Given the description of an element on the screen output the (x, y) to click on. 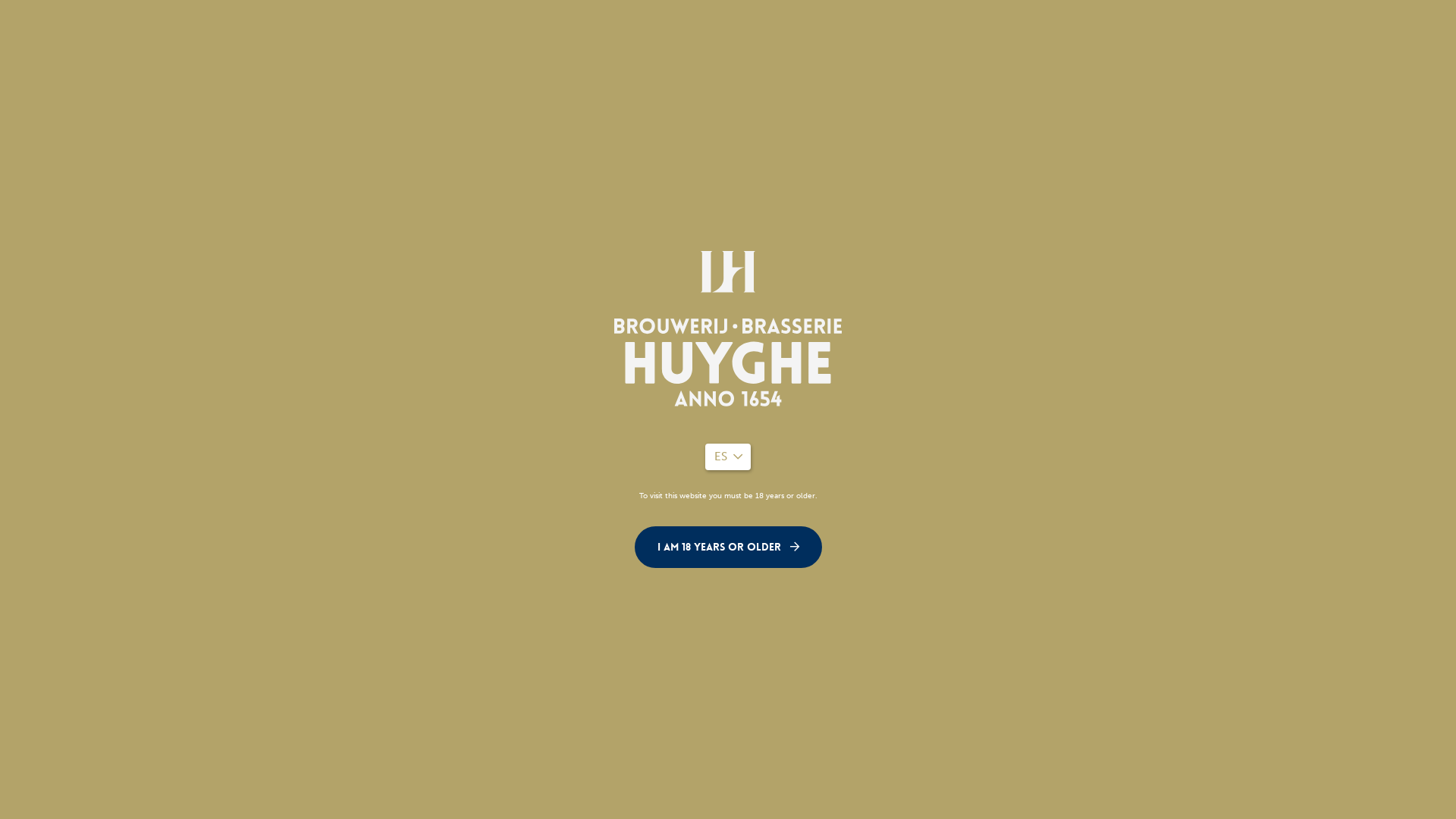
NUESTRAS CERVEZAS Element type: text (852, 69)
WEBSHOP Element type: text (1313, 26)
DOWNLOADS Element type: text (1215, 26)
ALQUILER DE SALAS Element type: text (1007, 26)
SOSTENIBILIDAD Element type: text (1140, 69)
CONTACTO Element type: text (1350, 69)
TRABAJA CON NOSOTROS Element type: text (848, 26)
VISITA Element type: text (1255, 69)
PREMIOS Element type: text (724, 26)
NOTICIAS Element type: text (1120, 26)
I AM 18 YEARS OR OLDER Element type: text (727, 546)
